Given the description of an element on the screen output the (x, y) to click on. 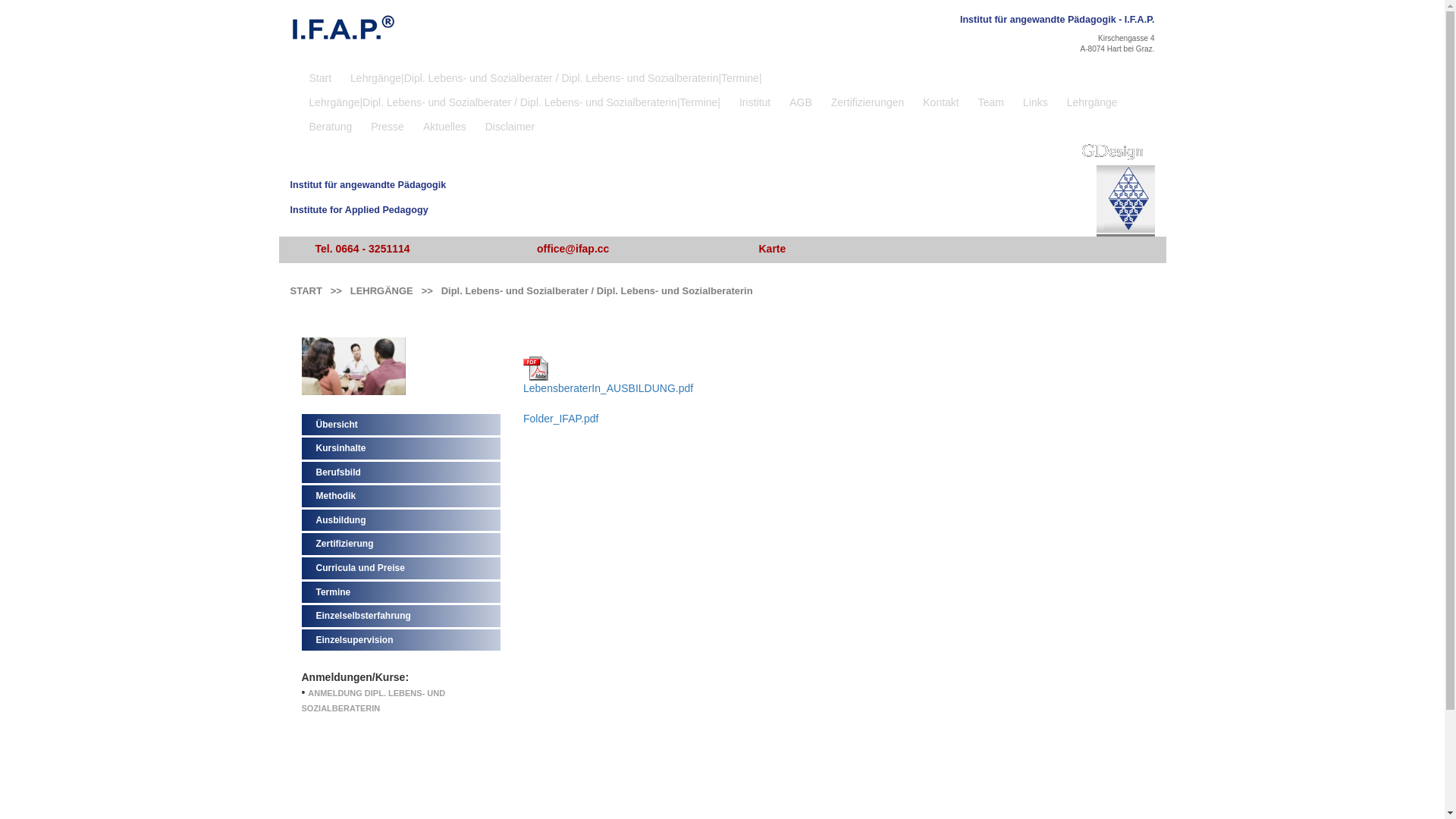
Folder_IFAP.pdf Element type: text (560, 418)
Curricula und Preise Element type: text (359, 567)
Kontakt Element type: text (942, 99)
Termine Element type: text (332, 591)
Ausbildung Element type: text (340, 519)
Zertifizierungen Element type: text (869, 99)
Karte Element type: text (774, 248)
Team Element type: text (992, 99)
Institut Element type: text (756, 99)
Tel. 0664 - 3251114 Element type: text (363, 248)
Einzelselbsterfahrung Element type: text (362, 615)
Methodik Element type: text (335, 495)
Start Element type: text (322, 75)
Presse Element type: text (389, 124)
Zertifizierung Element type: text (344, 543)
Aktuelles Element type: text (446, 124)
AGB Element type: text (802, 99)
START Element type: text (305, 290)
Kursinhalte Element type: text (340, 447)
LebensberaterIn_AUSBILDUNG.pdf Element type: text (608, 388)
Einzelsupervision Element type: text (353, 639)
Links Element type: text (1037, 99)
office@ifap.cc Element type: text (574, 248)
Disclaimer Element type: text (511, 124)
ANMELDUNG DIPL. LEBENS- UND SOZIALBERATERIN Element type: text (373, 700)
Beratung Element type: text (332, 124)
Berufsbild Element type: text (337, 472)
